Given the description of an element on the screen output the (x, y) to click on. 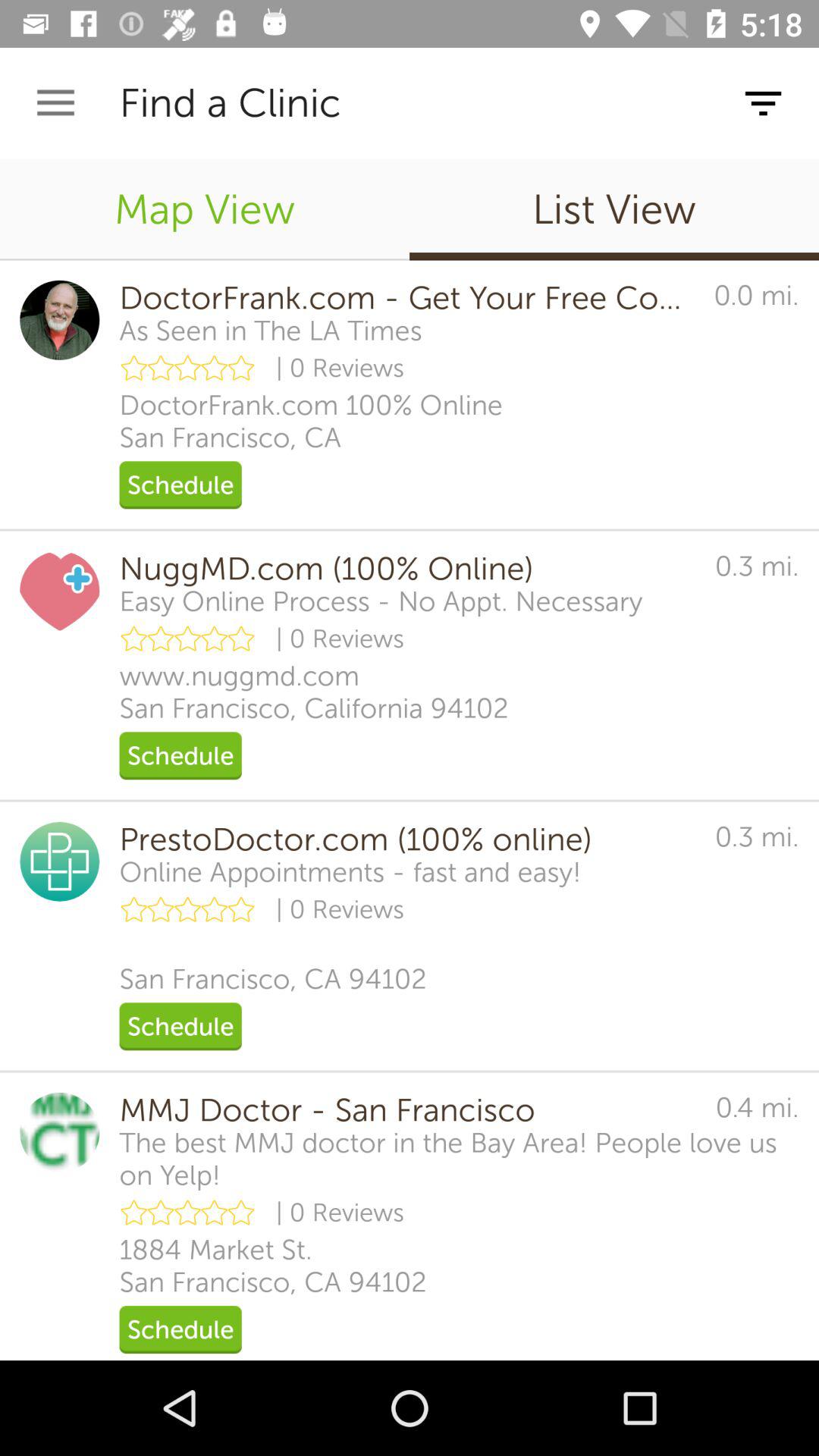
turn on 1884 market st (272, 1265)
